Given the description of an element on the screen output the (x, y) to click on. 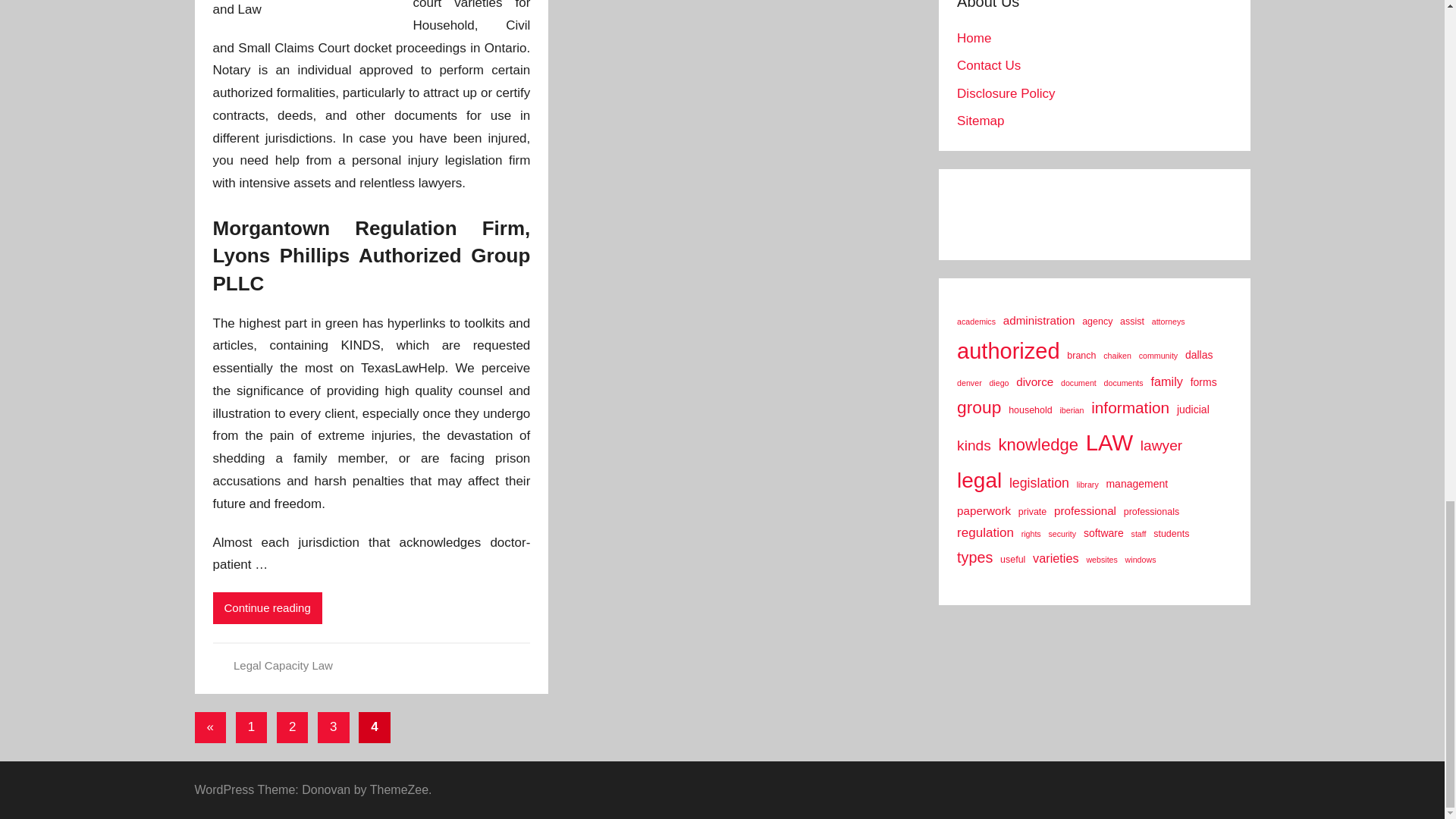
Legal Capacity Law (282, 665)
Continue reading (266, 607)
